Given the description of an element on the screen output the (x, y) to click on. 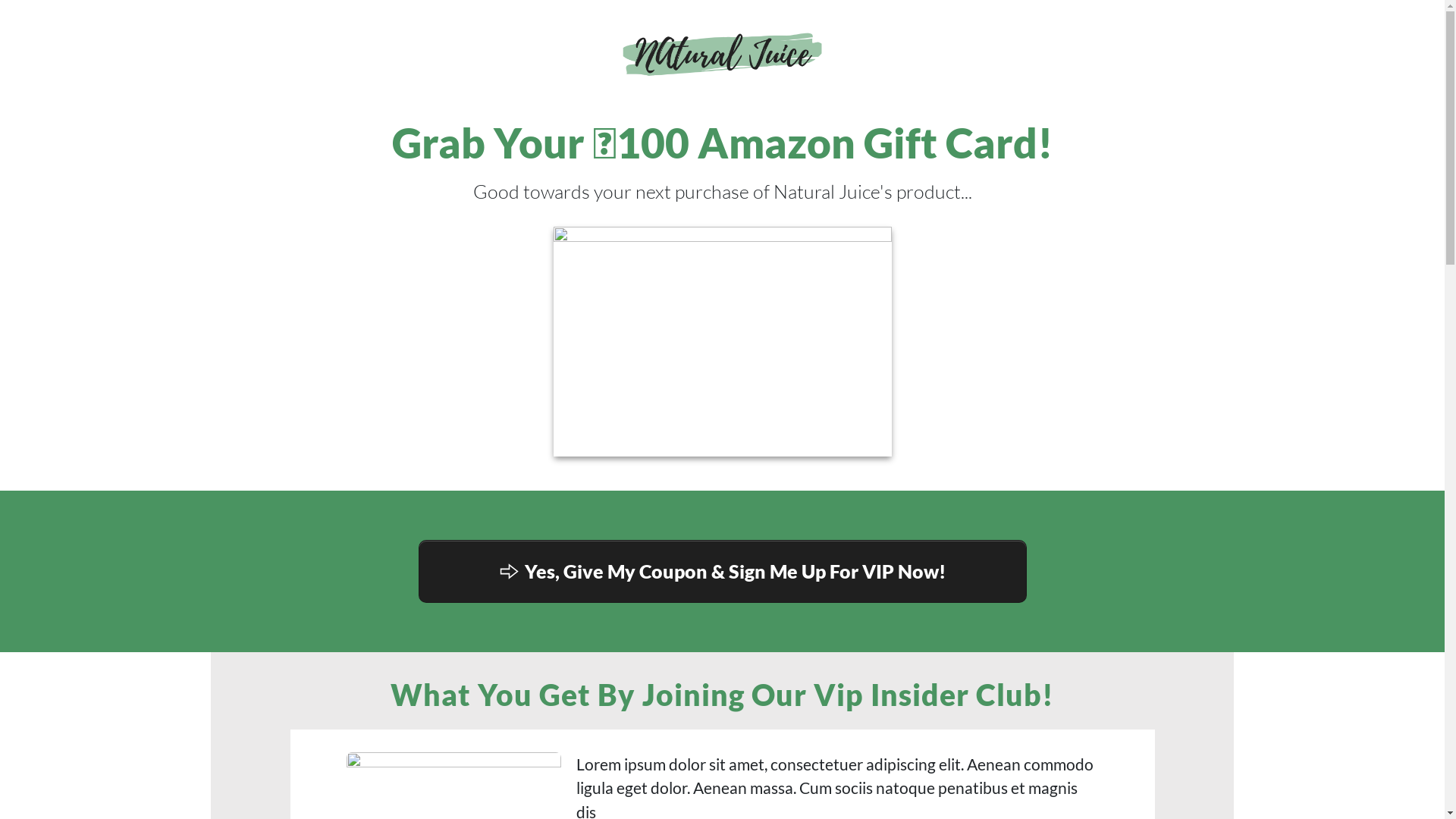
amazon-gift-card-min Element type: hover (722, 340)
Yes, Give My Coupon & Sign Me Up For VIP Now! Element type: text (722, 570)
Natural Juice Logo Trimmed Element type: hover (722, 53)
